Given the description of an element on the screen output the (x, y) to click on. 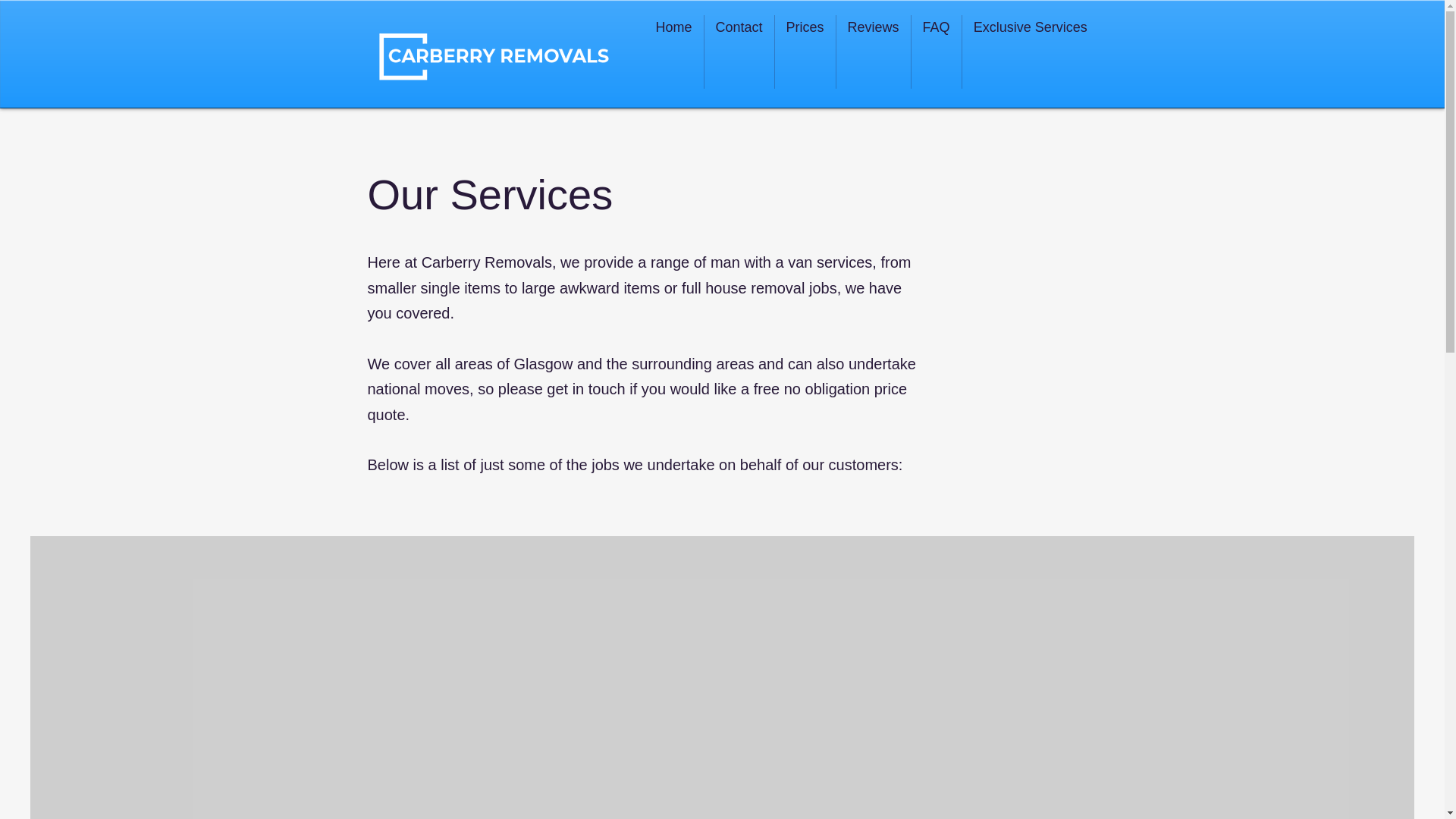
Reviews (873, 51)
Contact (739, 51)
Exclusive Services (1030, 51)
